Given the description of an element on the screen output the (x, y) to click on. 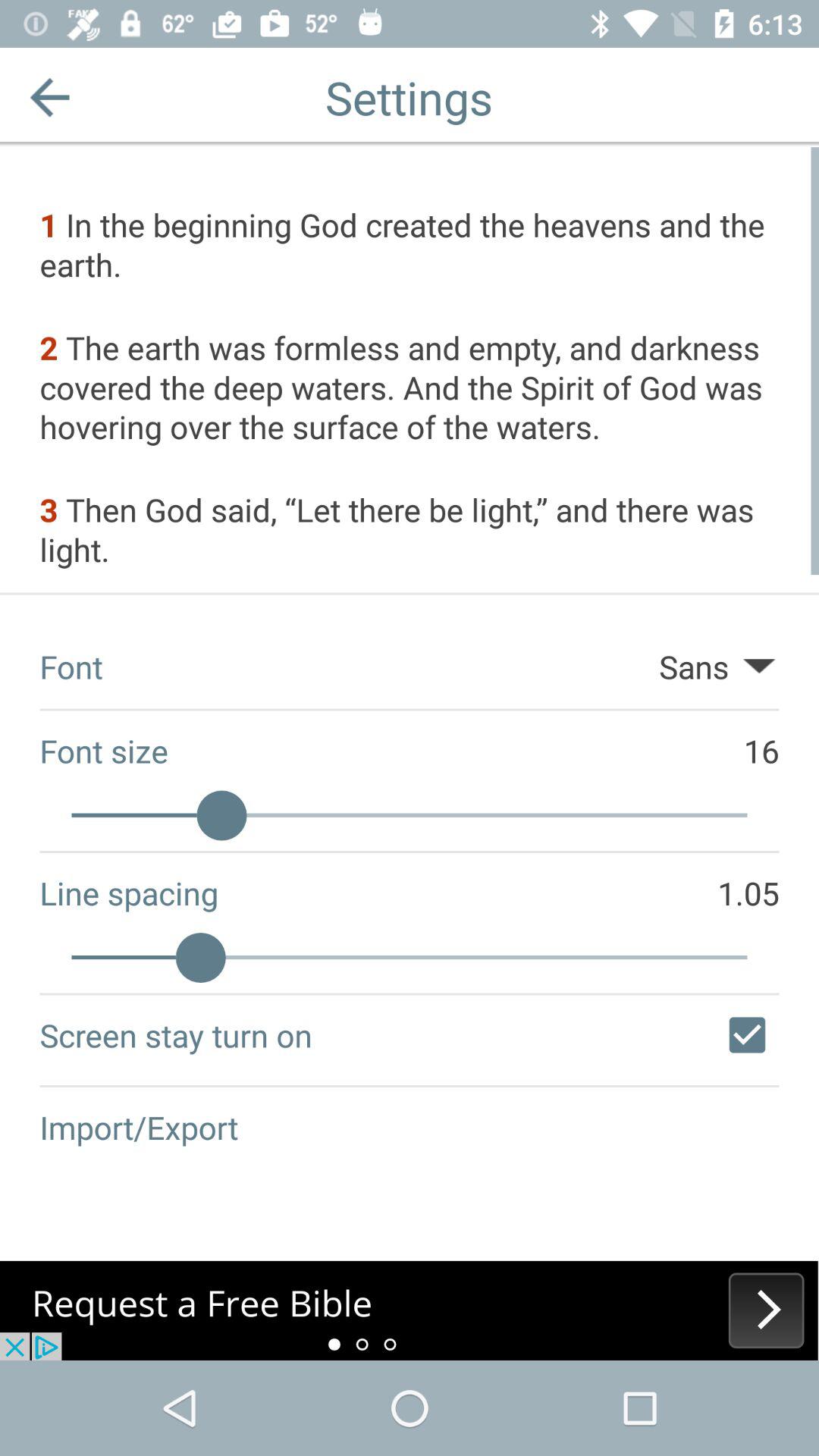
keep screen on (747, 1034)
